Given the description of an element on the screen output the (x, y) to click on. 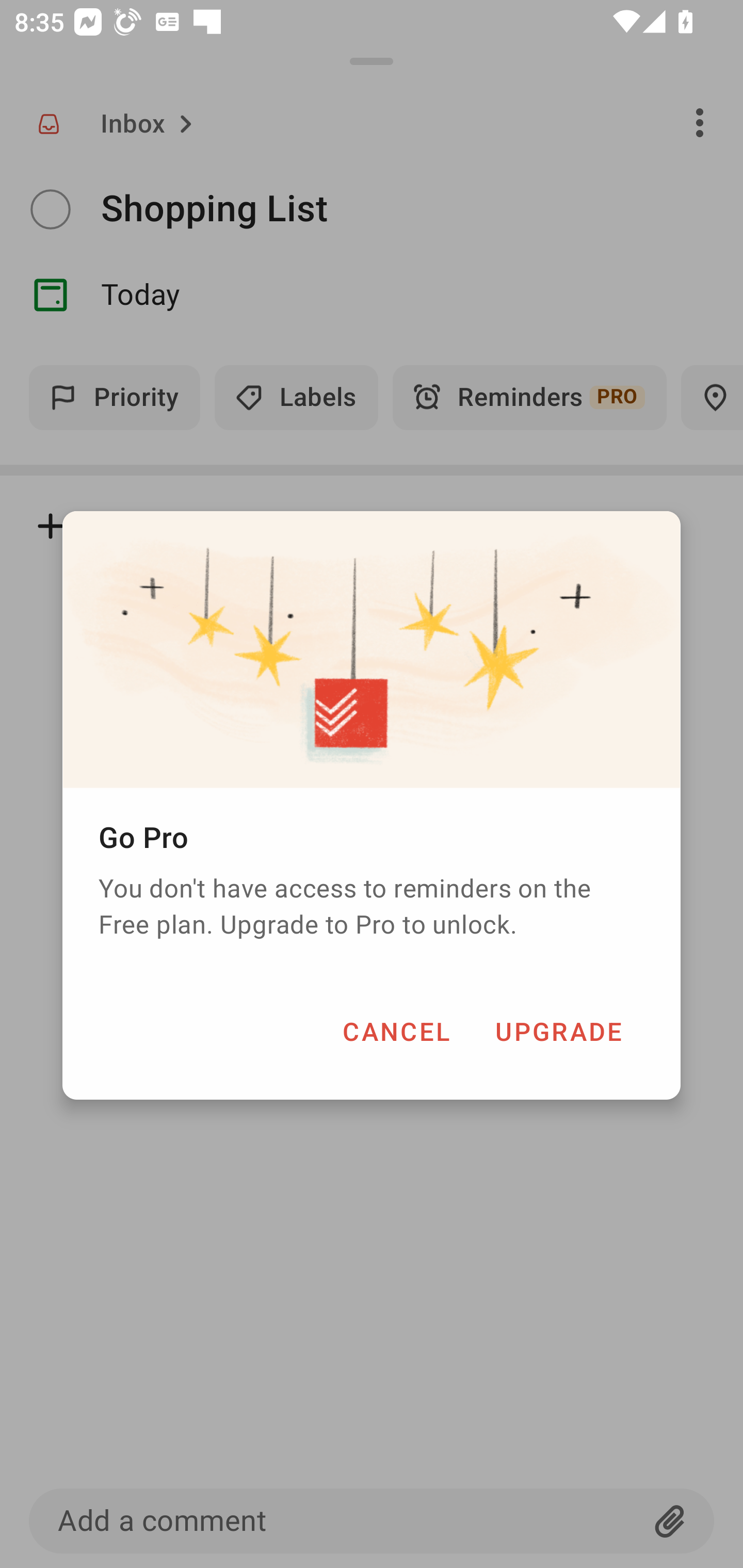
CANCEL (395, 1030)
UPGRADE (558, 1030)
